Given the description of an element on the screen output the (x, y) to click on. 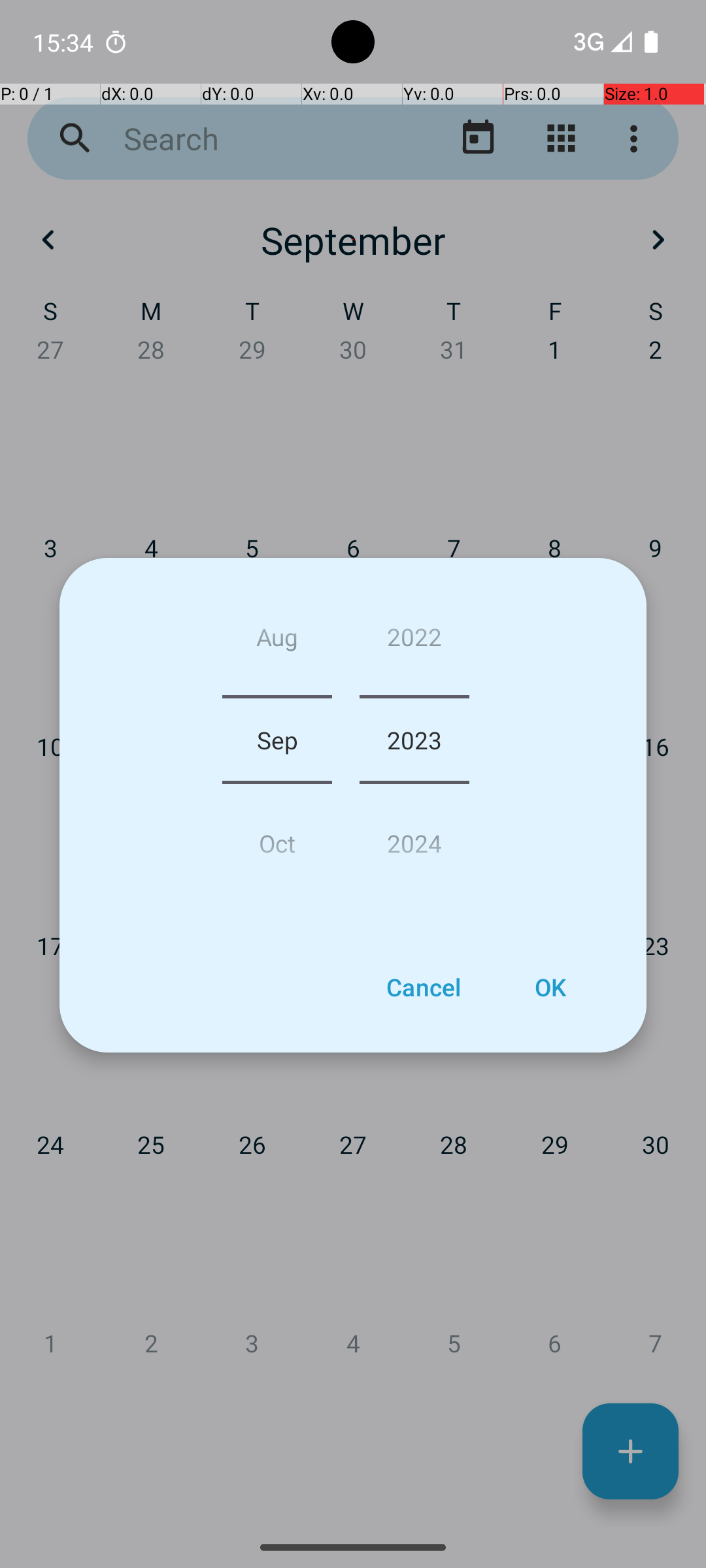
Aug Element type: android.widget.Button (277, 641)
